Given the description of an element on the screen output the (x, y) to click on. 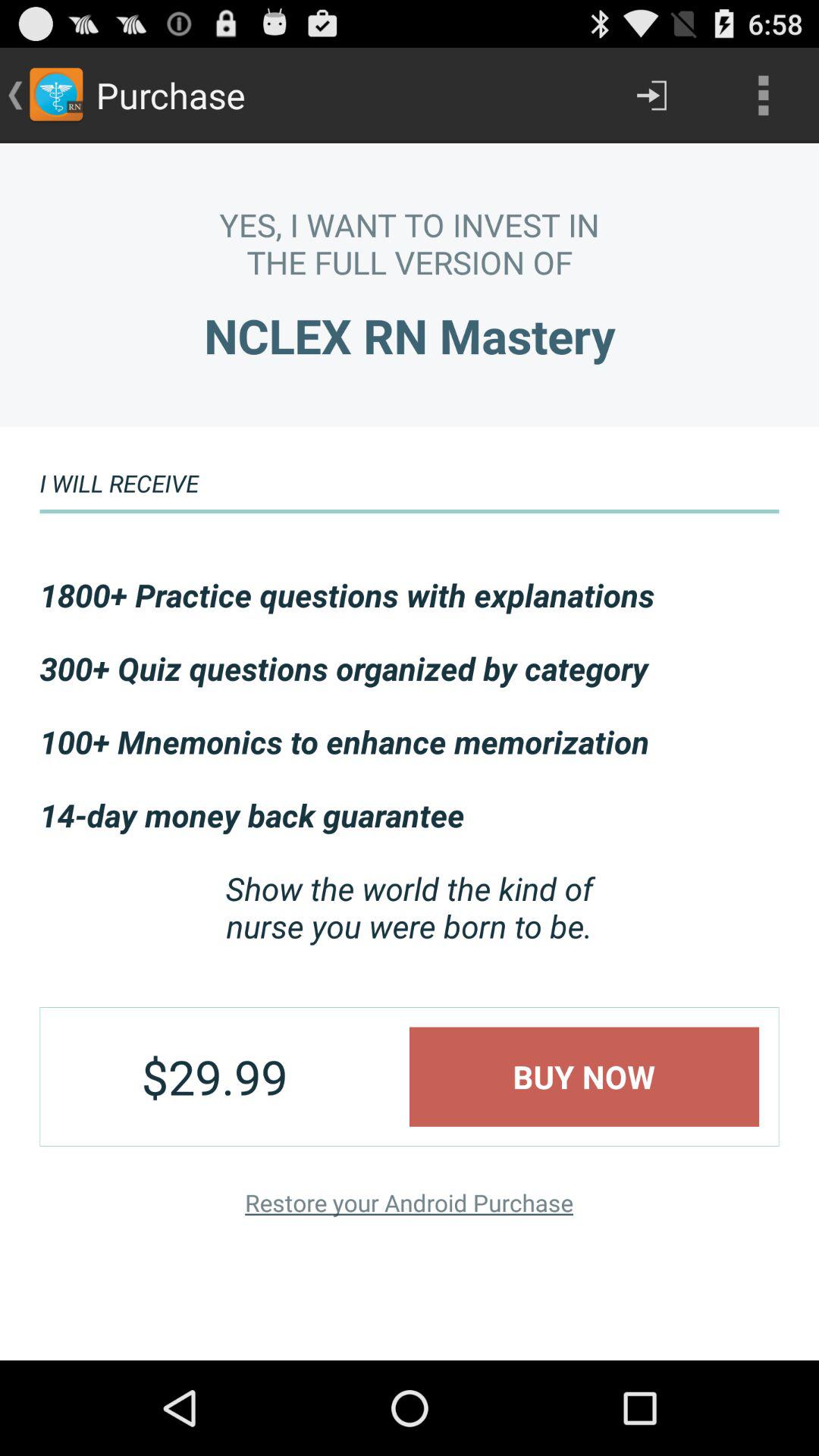
flip to buy now item (584, 1076)
